Given the description of an element on the screen output the (x, y) to click on. 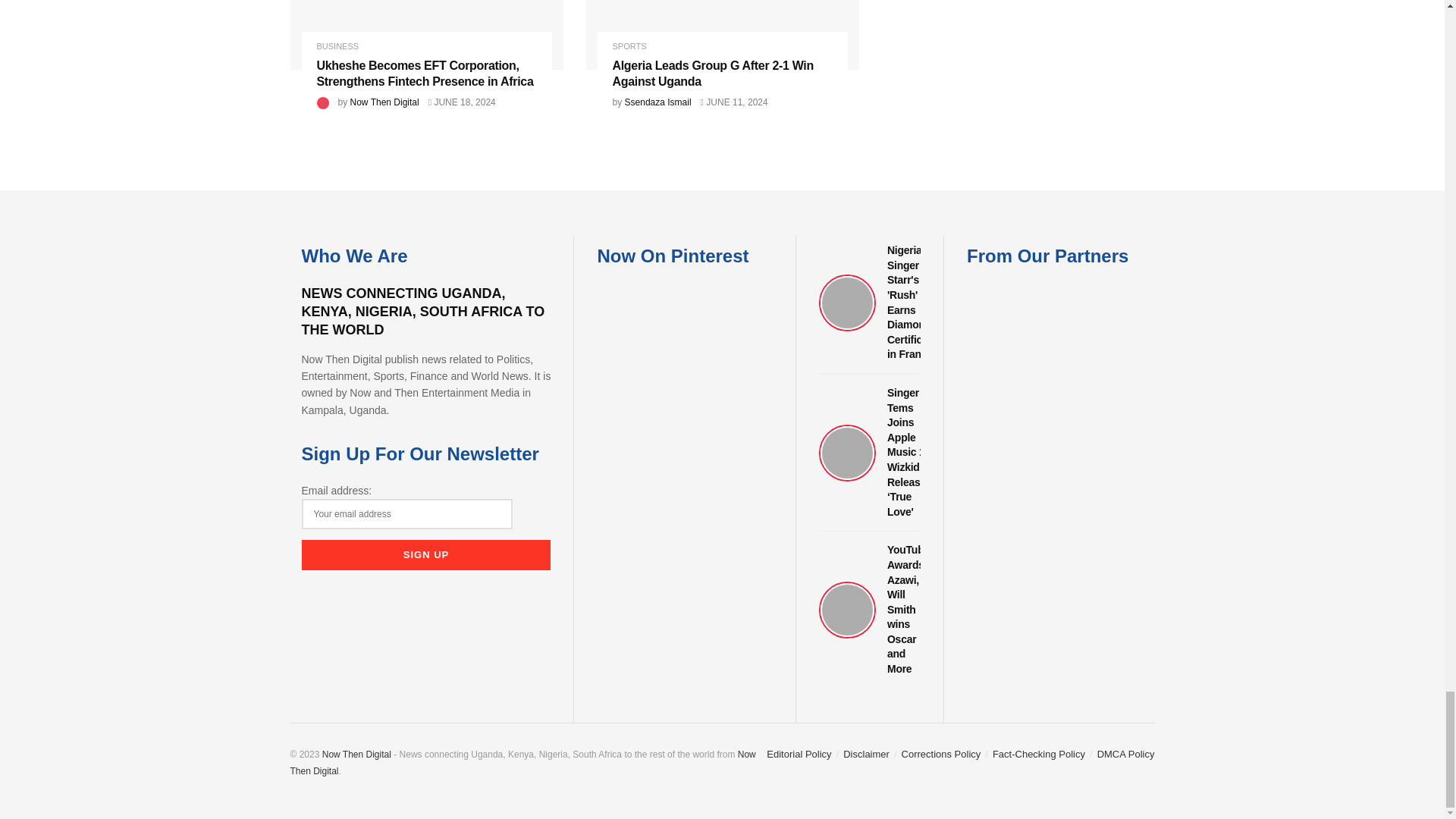
Sign up (426, 554)
Nigerian Singer Ayra Starr (869, 302)
Now Then Digital (356, 754)
YouTube Awards Azawi, Will Smith wins Oscar and More (869, 609)
Now Then Digital (522, 762)
